Given the description of an element on the screen output the (x, y) to click on. 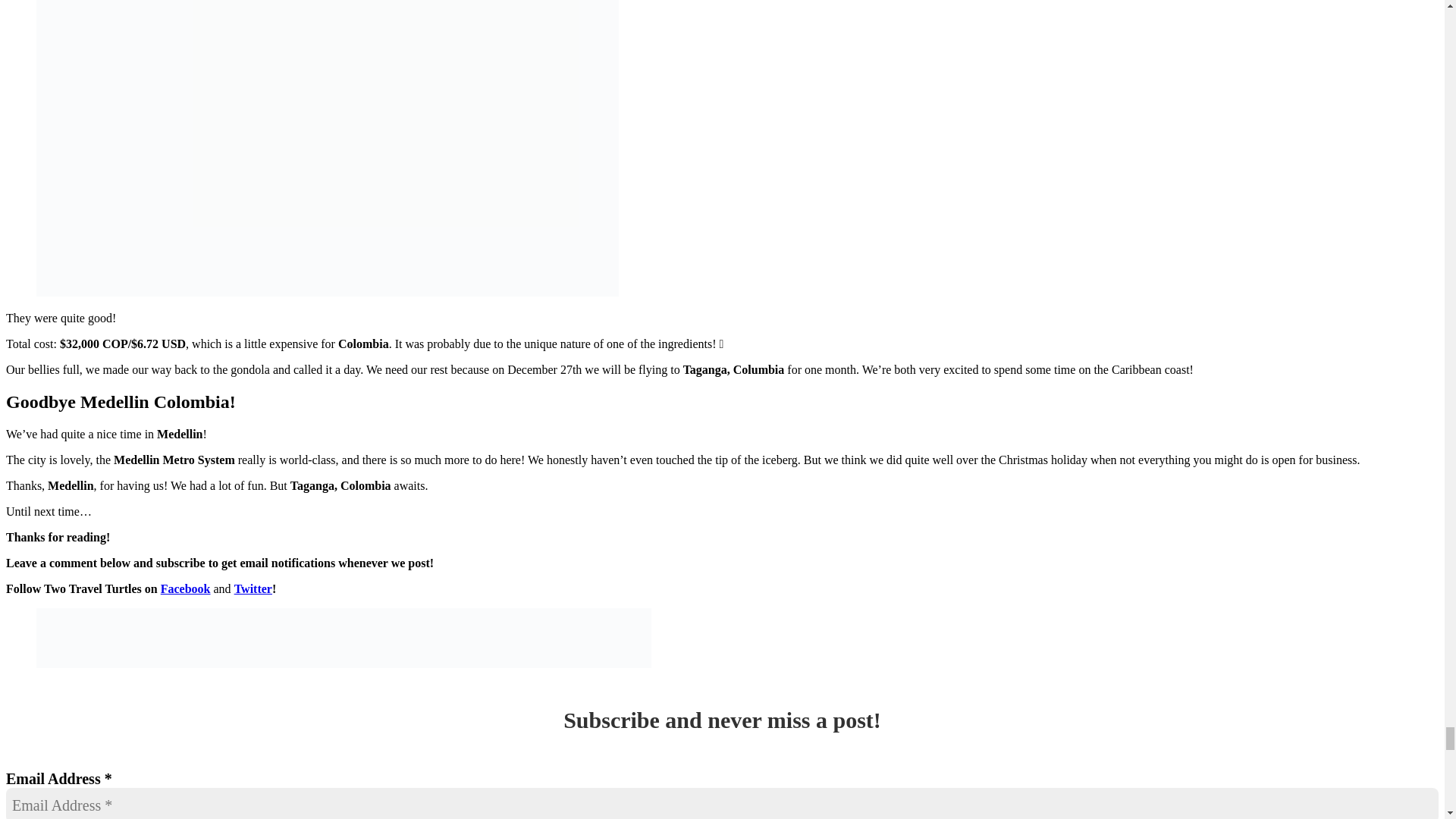
two travel turtles (343, 638)
